Given the description of an element on the screen output the (x, y) to click on. 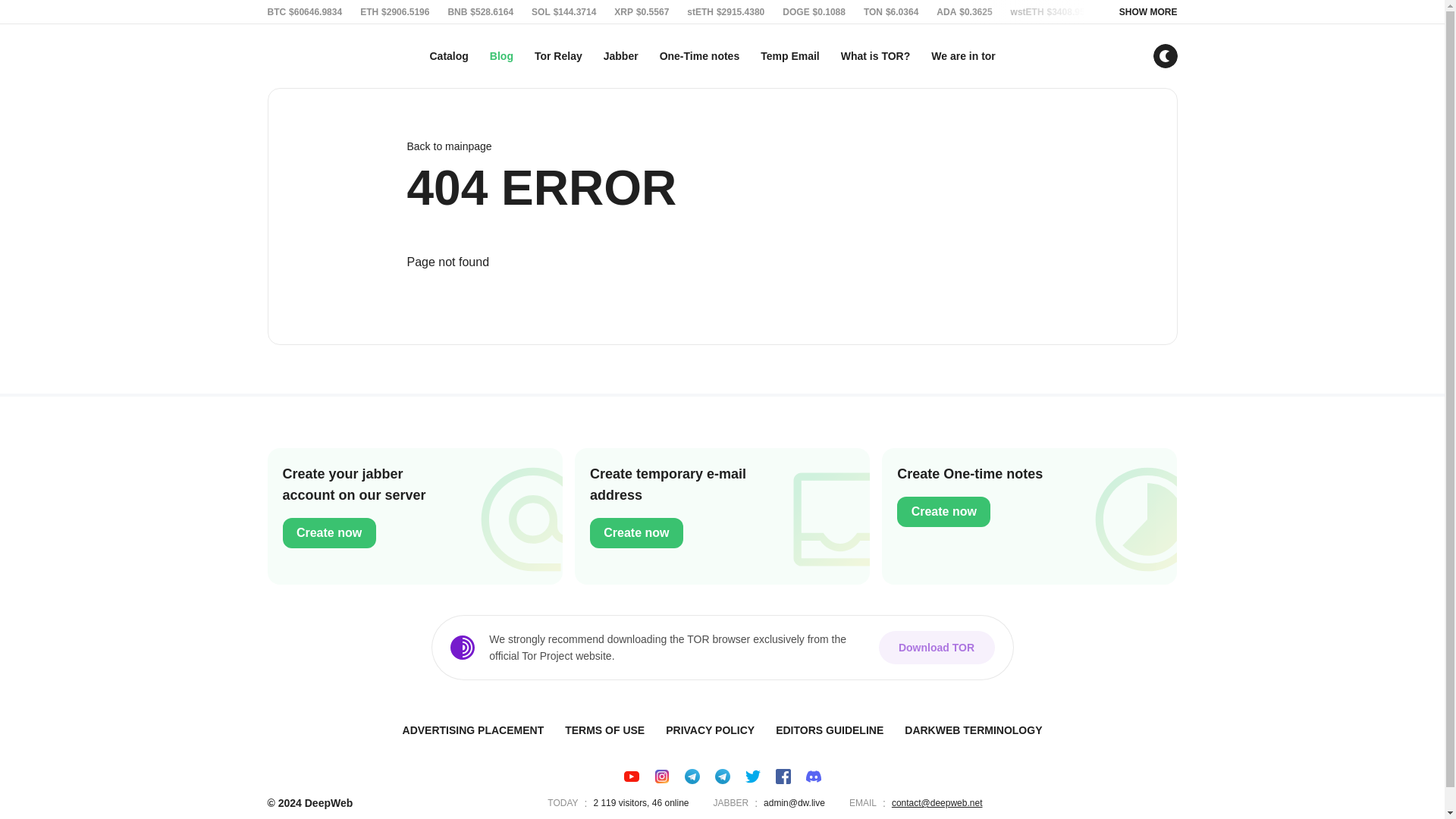
We are in tor (963, 56)
deepwebdotnet (721, 776)
Discord (813, 776)
Temp Email (789, 56)
Instagram (660, 776)
Download TOR (935, 647)
ADVERTISING PLACEMENT (472, 730)
Tor Relay (558, 56)
Create now (635, 532)
EDITORS GUIDELINE (829, 730)
Catalog (449, 56)
Back to mainpage (721, 146)
Jabber (620, 56)
Create now (328, 532)
What is TOR? (875, 56)
